Given the description of an element on the screen output the (x, y) to click on. 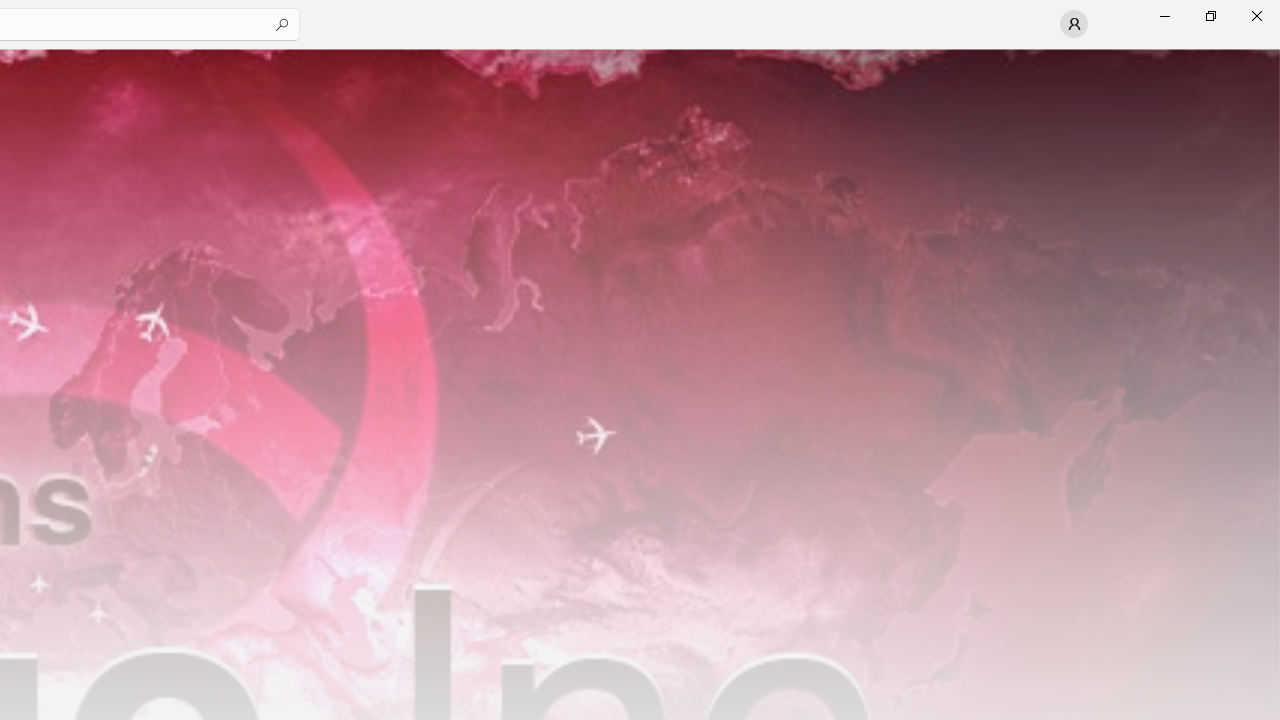
Restore Microsoft Store (1210, 15)
Close Microsoft Store (1256, 15)
User profile (1073, 24)
Minimize Microsoft Store (1164, 15)
